Given the description of an element on the screen output the (x, y) to click on. 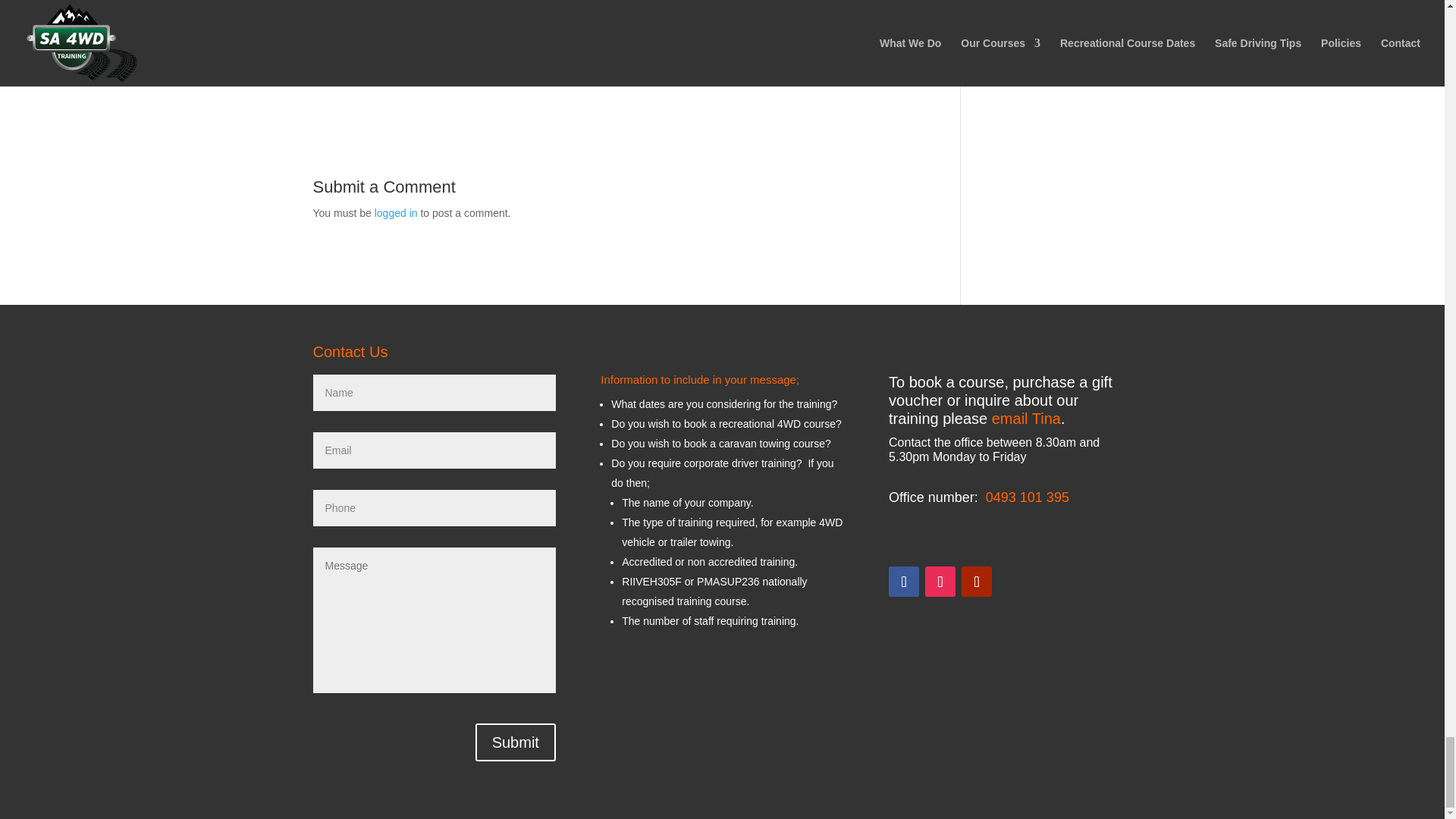
Follow on Instagram (939, 581)
Follow on Facebook (903, 581)
logged in (395, 213)
Submit (516, 742)
Follow on Youtube (975, 581)
